Given the description of an element on the screen output the (x, y) to click on. 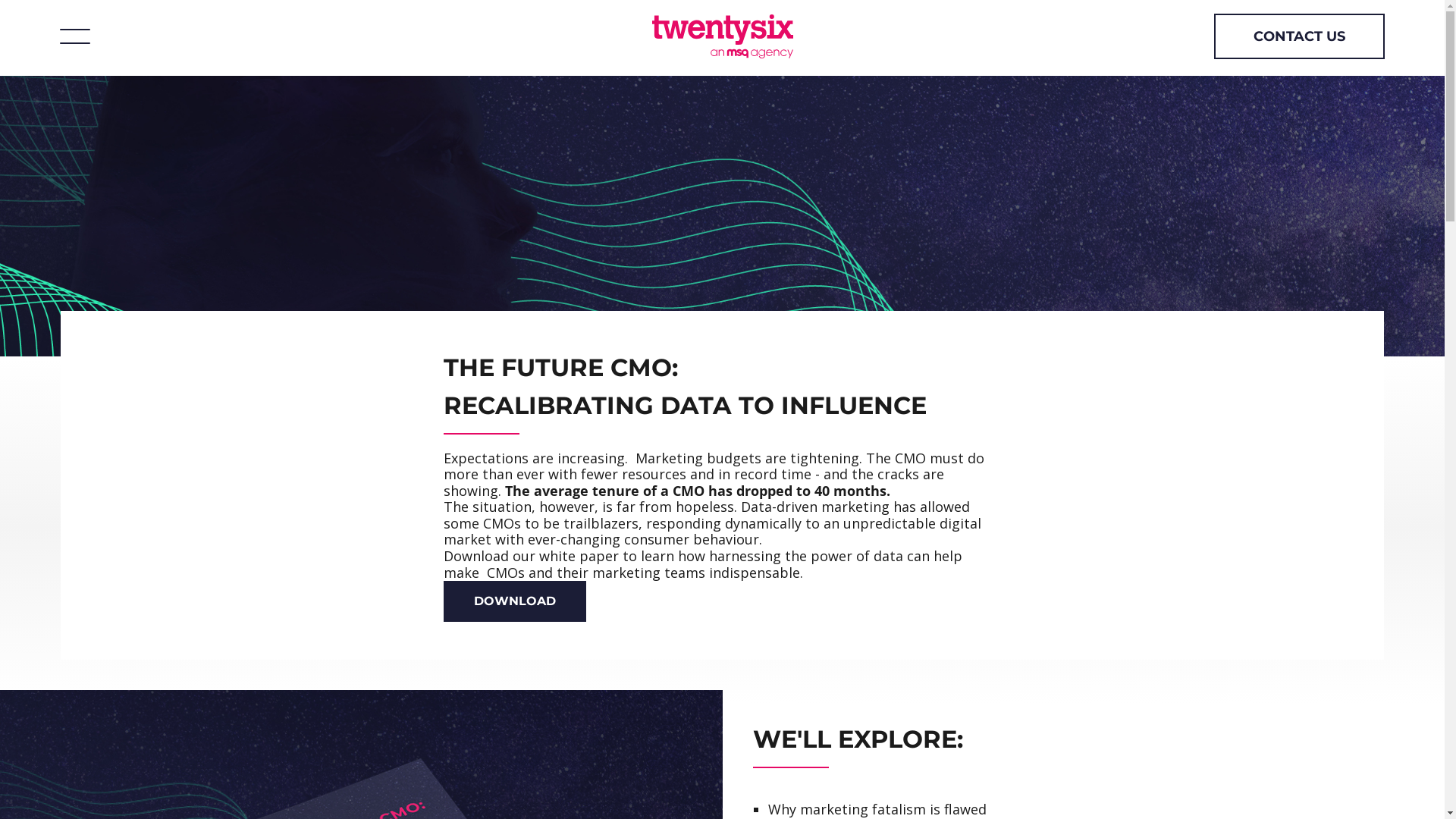
DOWNLOAD Element type: text (513, 600)
CONTACT US Element type: text (1299, 36)
